Given the description of an element on the screen output the (x, y) to click on. 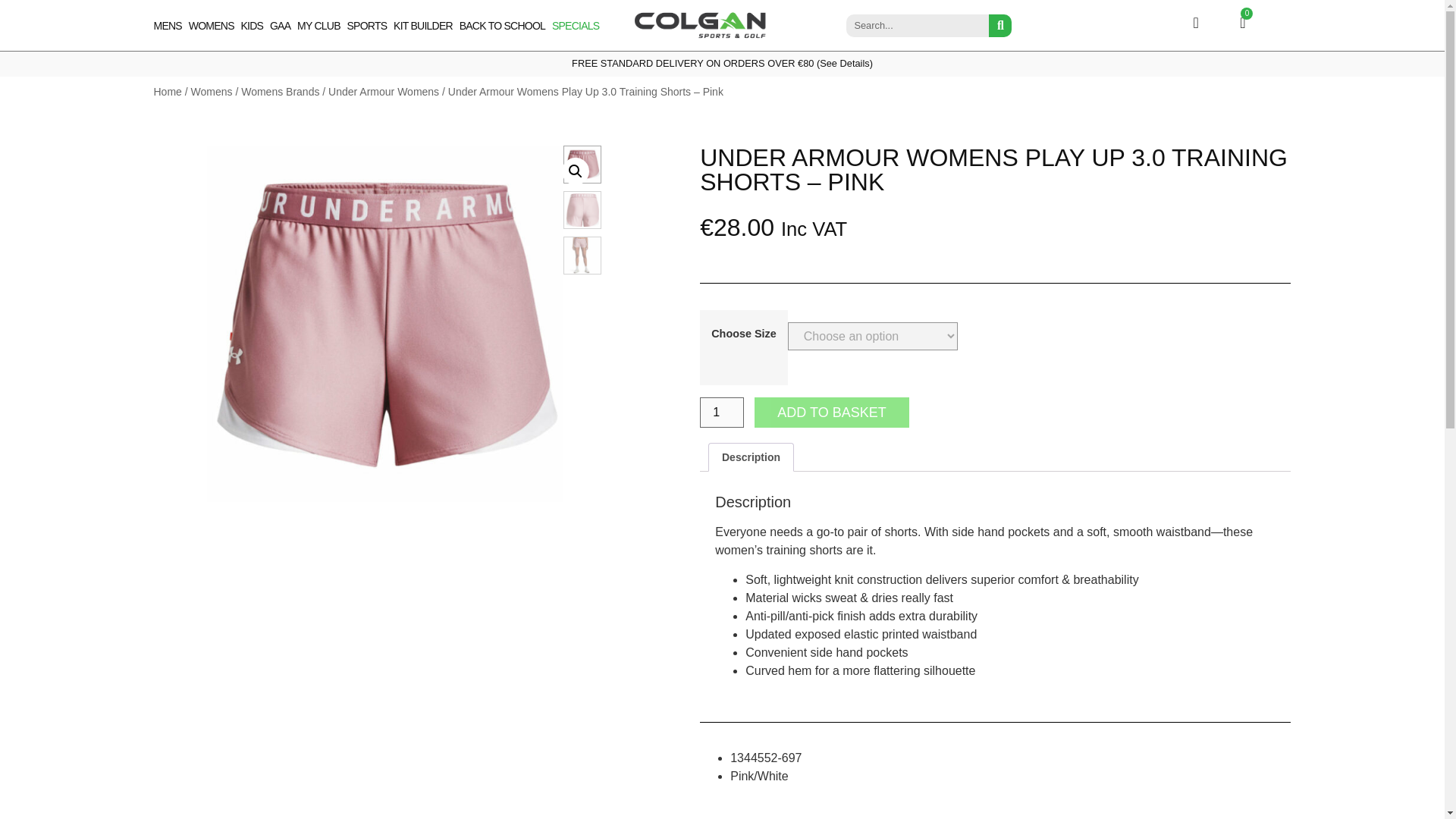
1 (722, 412)
WOMENS (211, 25)
MENS (166, 25)
